Given the description of an element on the screen output the (x, y) to click on. 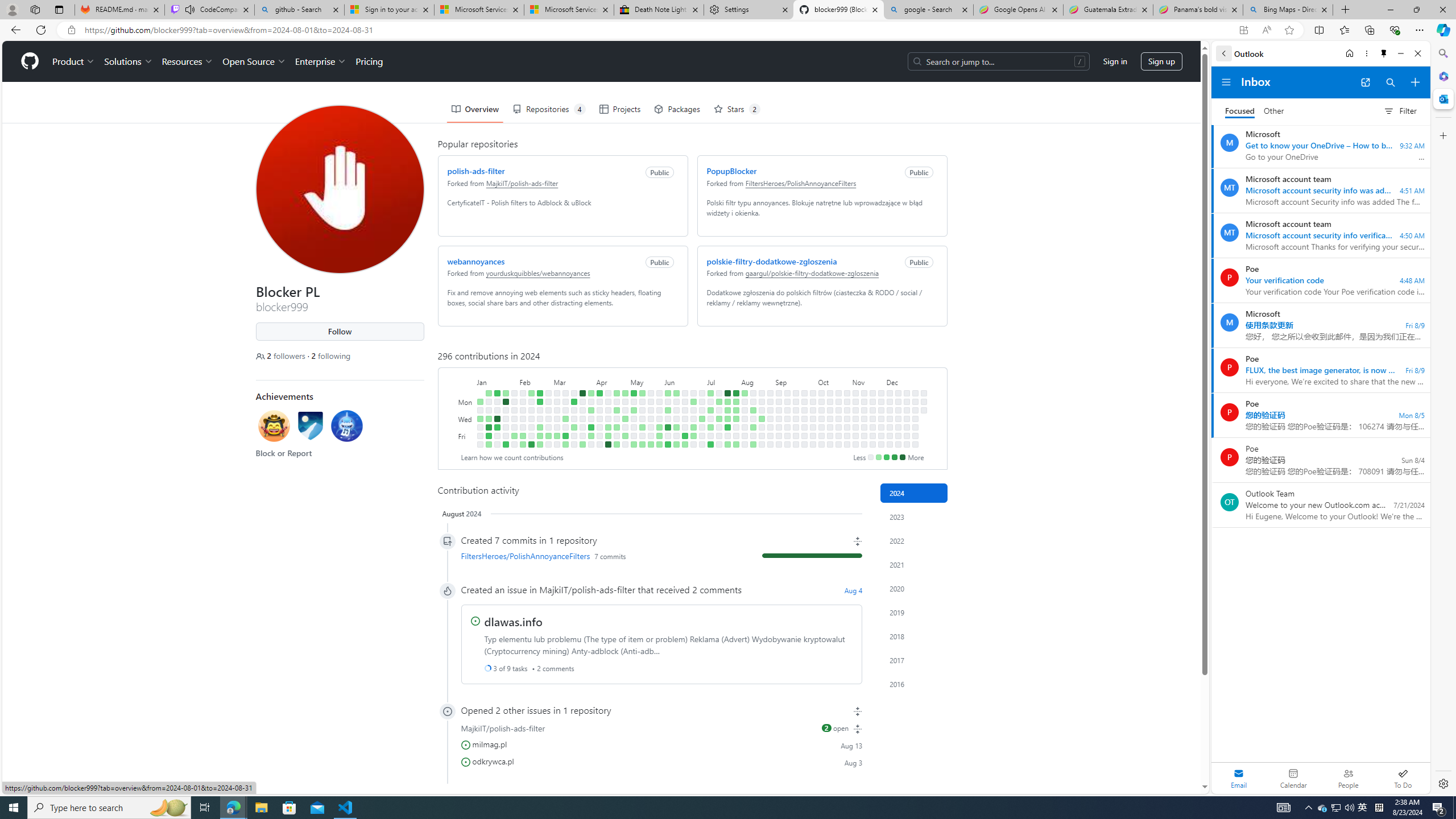
No contributions on August 30th. (770, 435)
No contributions on April 1st. (591, 401)
No contributions on July 4th. (701, 427)
2 contributions on April 21st. (616, 392)
1 contribution on June 1st. (658, 444)
No contributions on September 21st. (795, 444)
1 contribution on July 29th. (735, 401)
No contributions on October 27th. (846, 392)
No contributions on December 22nd. (914, 392)
No contributions on December 7th. (889, 444)
3 contributions on April 27th. (616, 444)
No contributions on February 29th. (547, 427)
